Given the description of an element on the screen output the (x, y) to click on. 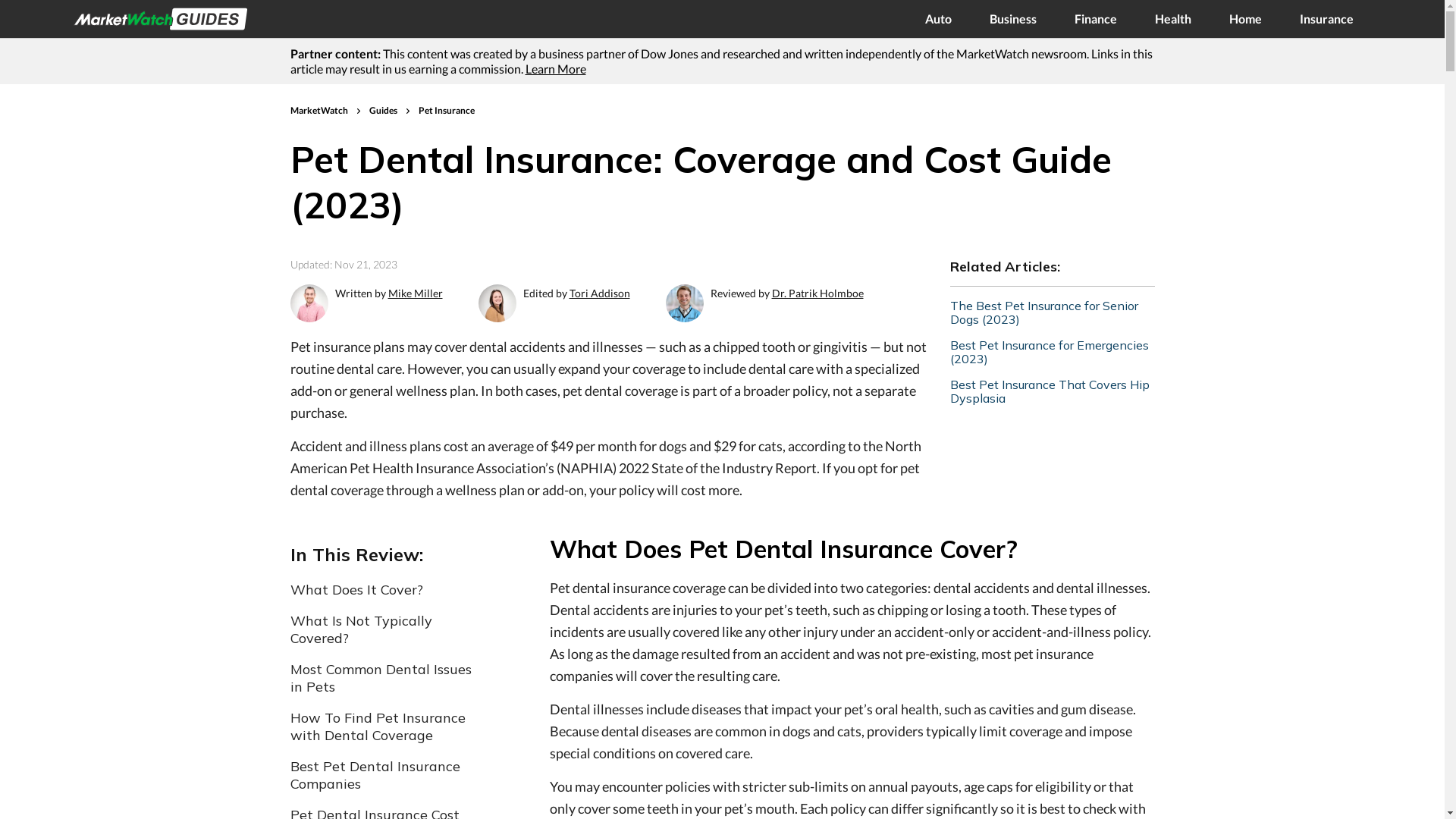
Learn More Element type: text (554, 68)
Guides Element type: text (383, 110)
Home Element type: text (1245, 18)
Mike Miller Element type: text (415, 292)
Dr. Patrik Holmboe Element type: text (817, 292)
Finance Element type: text (1095, 18)
Pet Insurance Element type: text (446, 110)
Best Pet Insurance for Emergencies (2023) Element type: text (1051, 351)
The Best Pet Insurance for Senior Dogs (2023) Element type: text (1051, 312)
Insurance Element type: text (1326, 18)
Auto Element type: text (938, 18)
Tori Addison Element type: text (598, 292)
Health Element type: text (1172, 18)
Business Element type: text (1012, 18)
MarketWatch Element type: text (318, 110)
Best Pet Insurance That Covers Hip Dysplasia Element type: text (1051, 390)
